Given the description of an element on the screen output the (x, y) to click on. 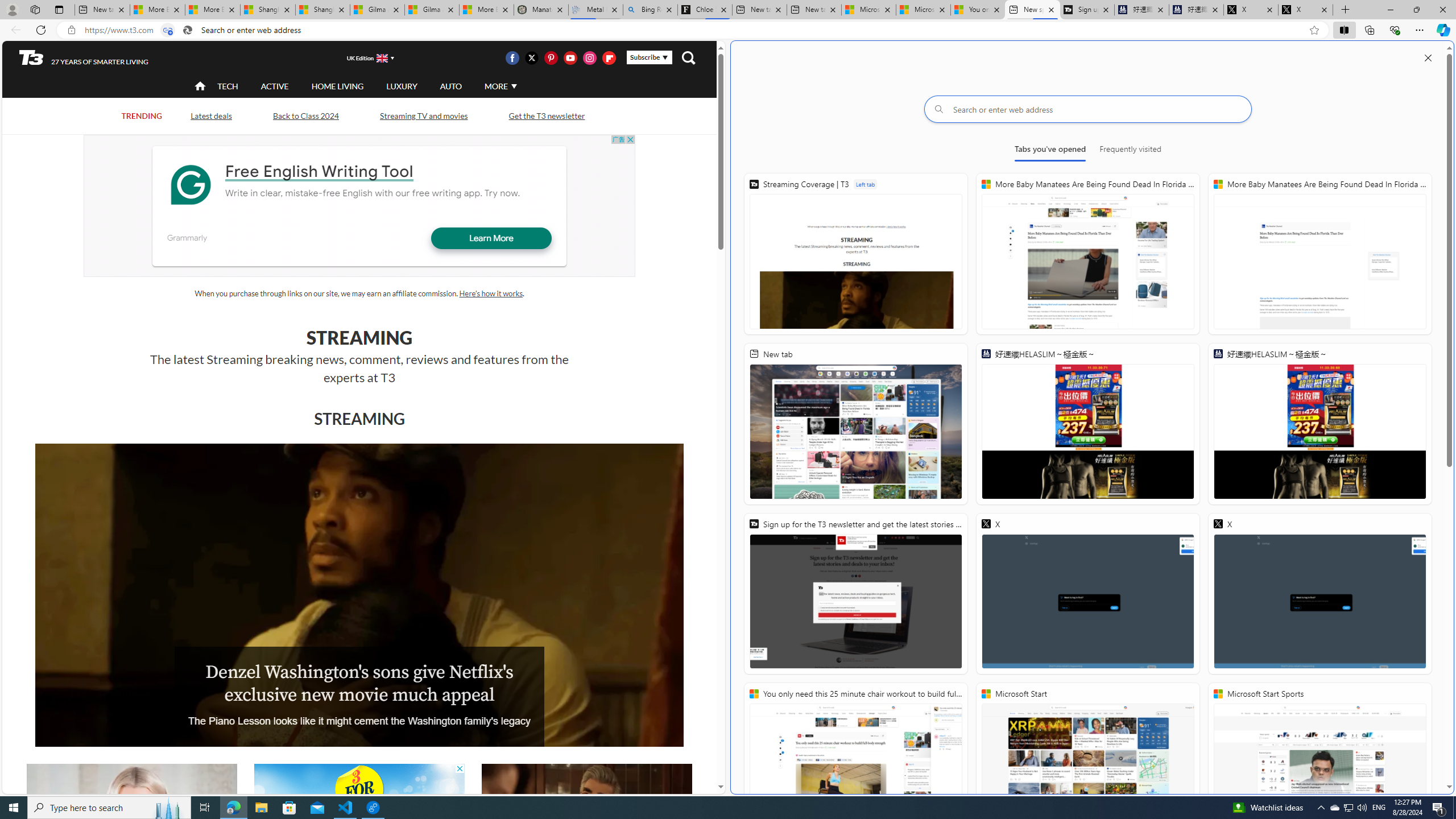
ACTIVE (274, 86)
Frequently visited (1130, 151)
Bing Real Estate - Home sales and rental listings (650, 9)
Get the T3 newsletter (546, 115)
Visit us on Flipboard (608, 57)
T3 (30, 56)
Back to Class 2024 (305, 115)
Visit us on Instagram (589, 57)
New split screen (1032, 9)
